Given the description of an element on the screen output the (x, y) to click on. 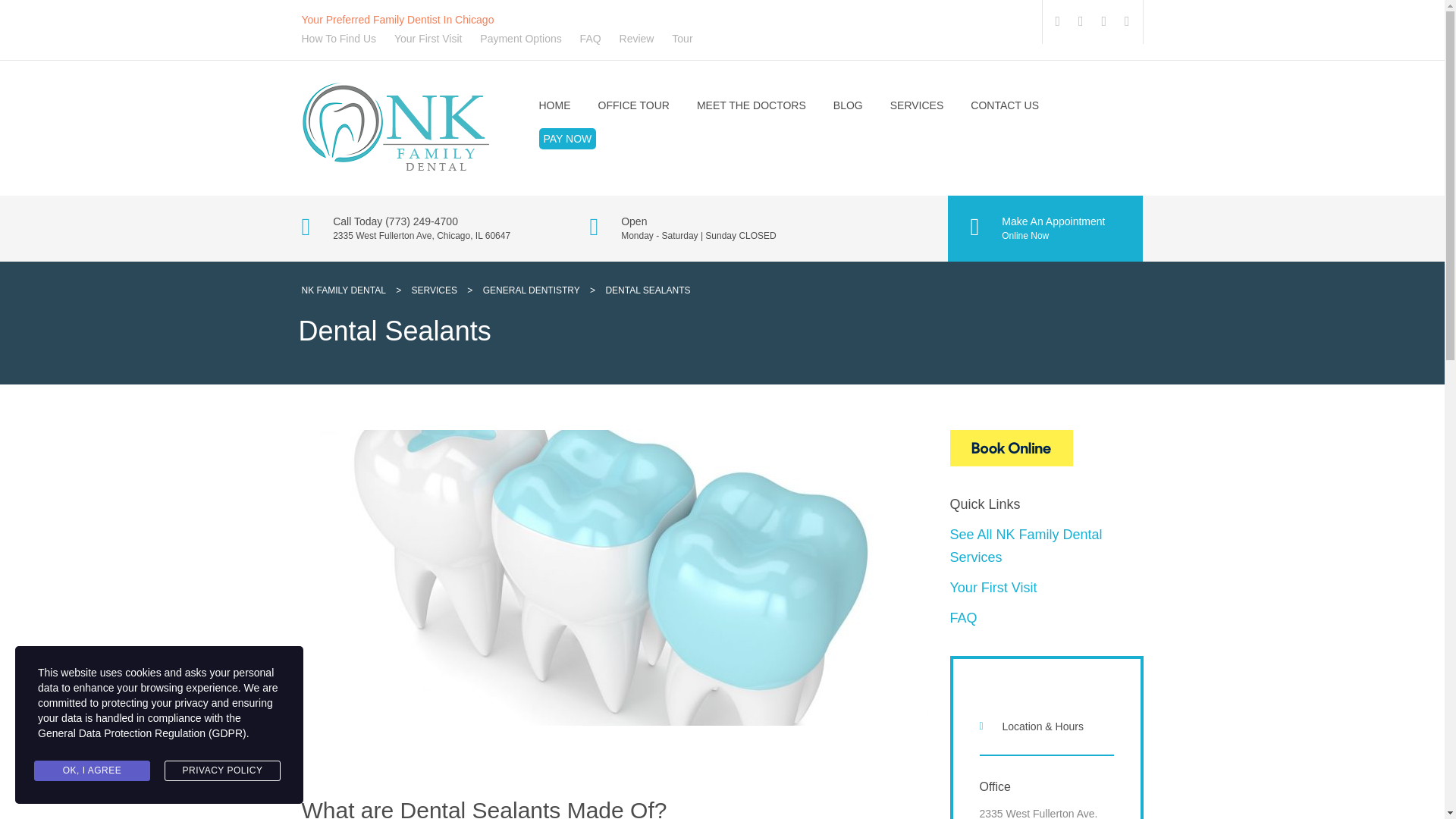
Your First Visit (427, 38)
Review (636, 38)
Tour (682, 38)
Go to Services. (434, 290)
MEET THE DOCTORS (751, 105)
FAQ (590, 38)
Go to NK Family Dental. (343, 290)
Payment Options (520, 38)
NK FAMILY DENTAL  (1045, 447)
SERVICES (434, 290)
dental-sealants (150, 577)
See All NK Family Dental Services (1025, 546)
SERVICES (916, 105)
Go to the General Dentistry Categories archives. (531, 290)
